Given the description of an element on the screen output the (x, y) to click on. 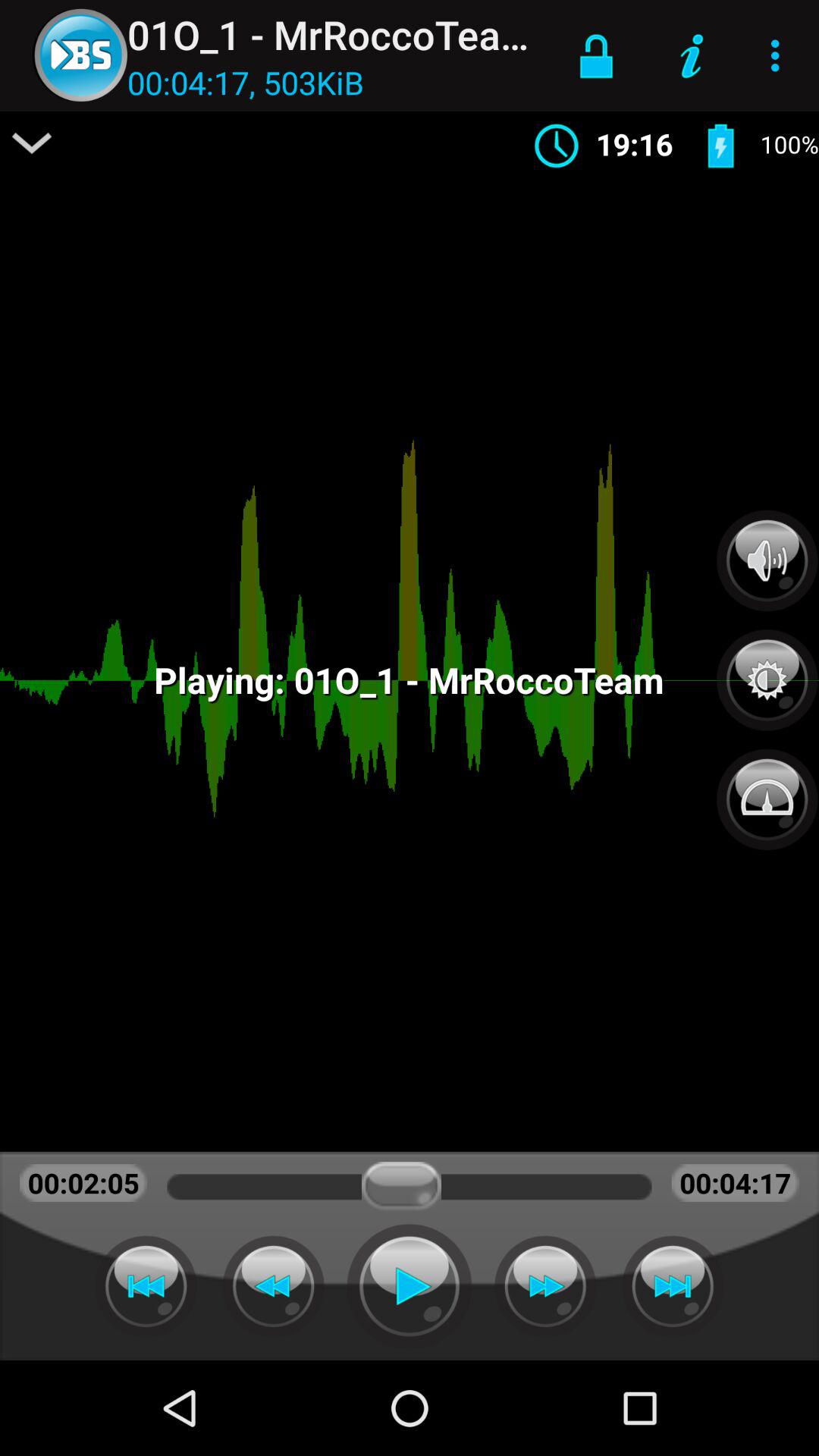
advance audio (545, 1286)
